Given the description of an element on the screen output the (x, y) to click on. 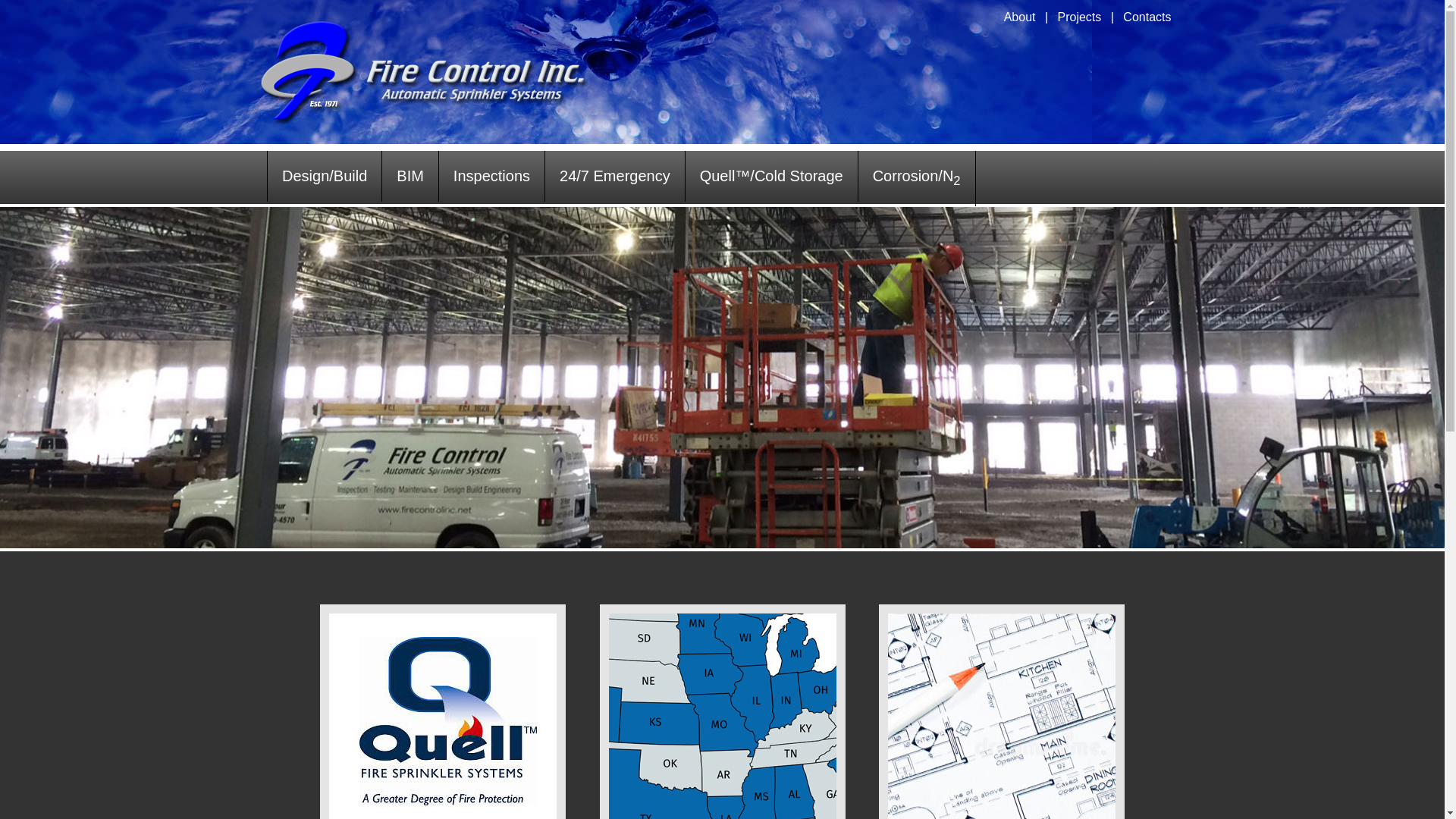
About (1019, 16)
Inspections (491, 175)
Contacts (1146, 16)
Projects (1079, 16)
BIM (410, 175)
